Given the description of an element on the screen output the (x, y) to click on. 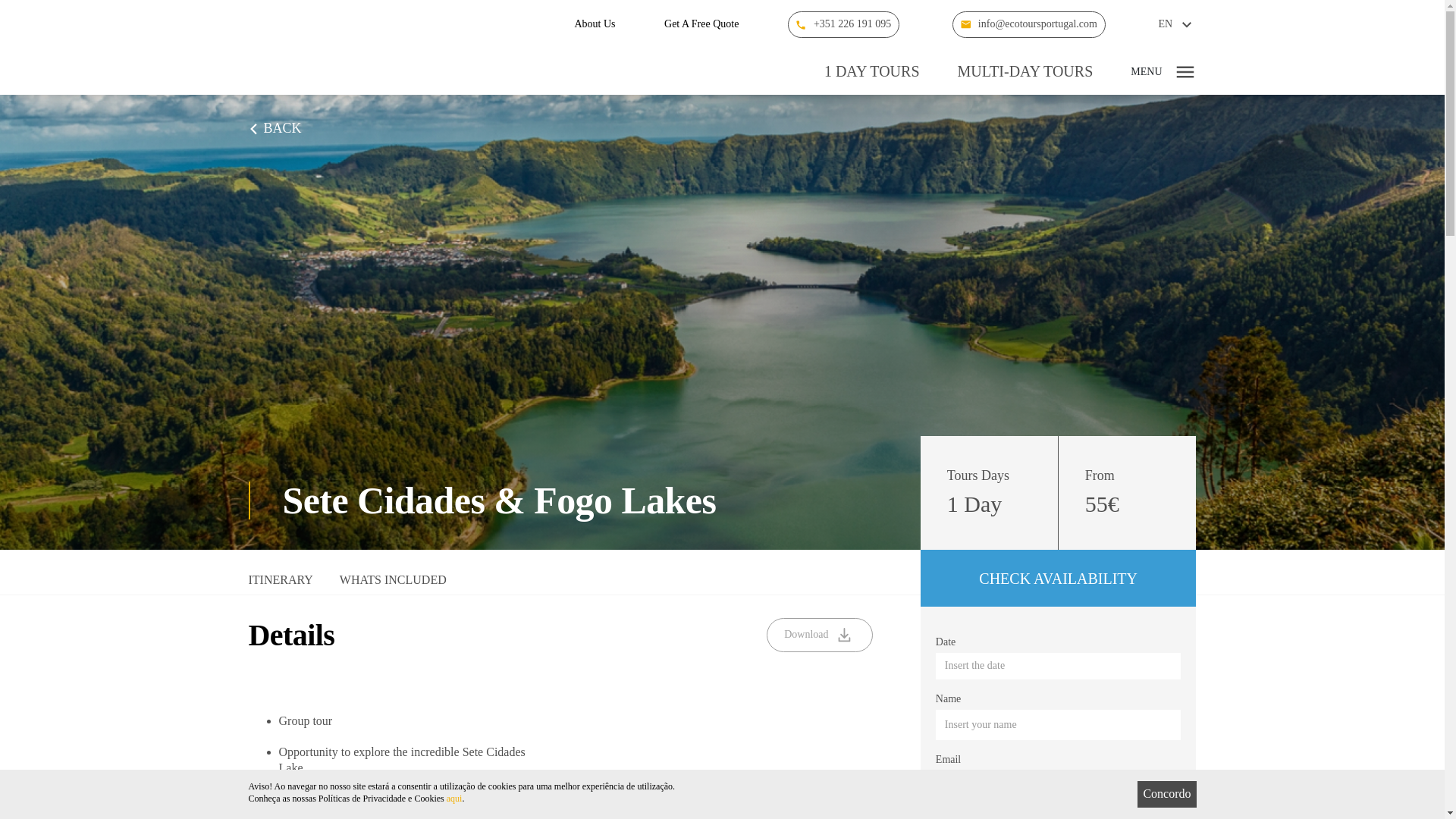
ITINERARY (280, 583)
About Us (593, 24)
WHATS INCLUDED (392, 583)
Download (819, 634)
1 DAY TOURS (872, 71)
MULTI-DAY TOURS (1025, 71)
BACK (274, 128)
Get A Free Quote (700, 24)
MENU (1163, 71)
